Given the description of an element on the screen output the (x, y) to click on. 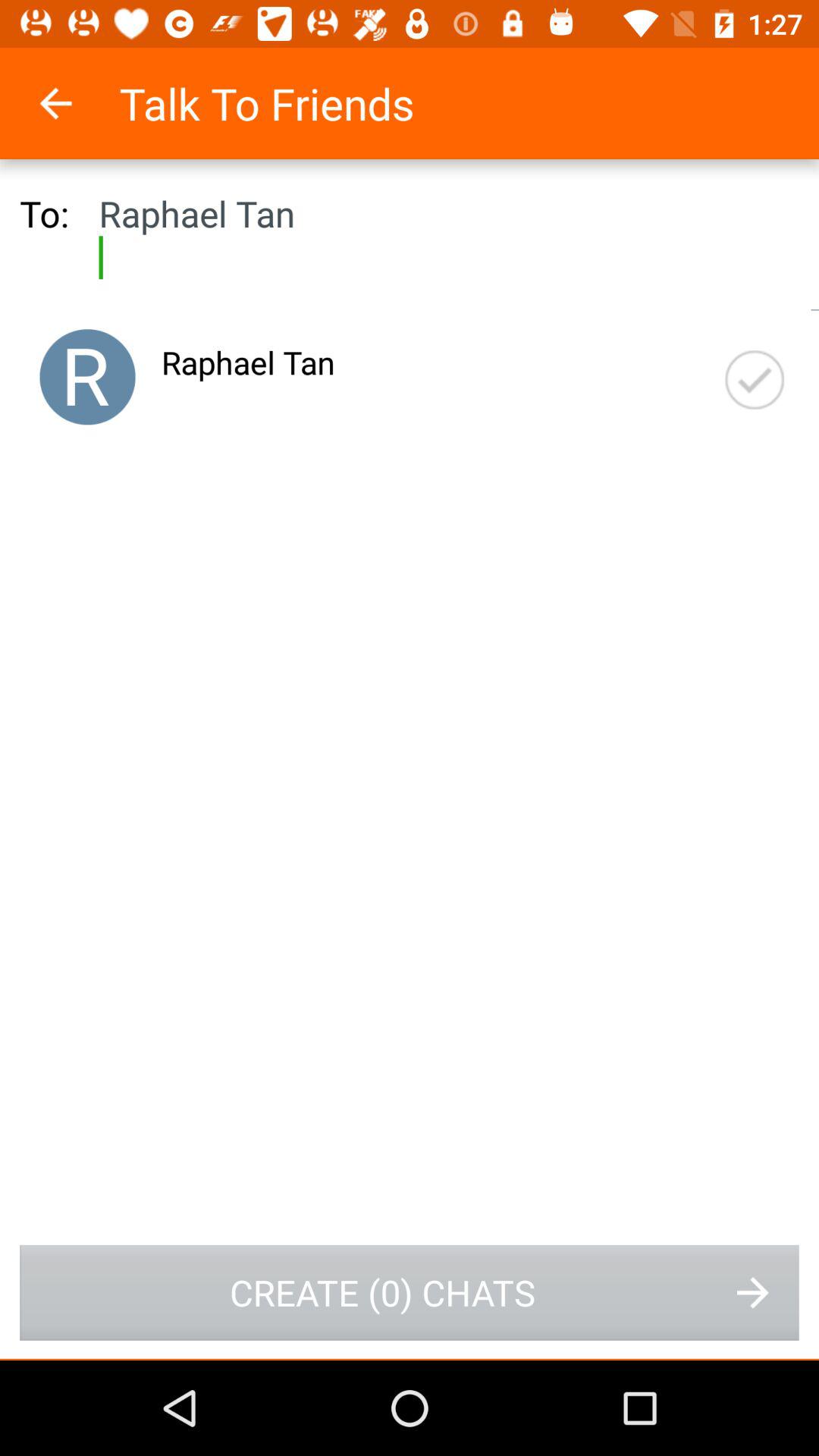
user avatar (87, 376)
